Given the description of an element on the screen output the (x, y) to click on. 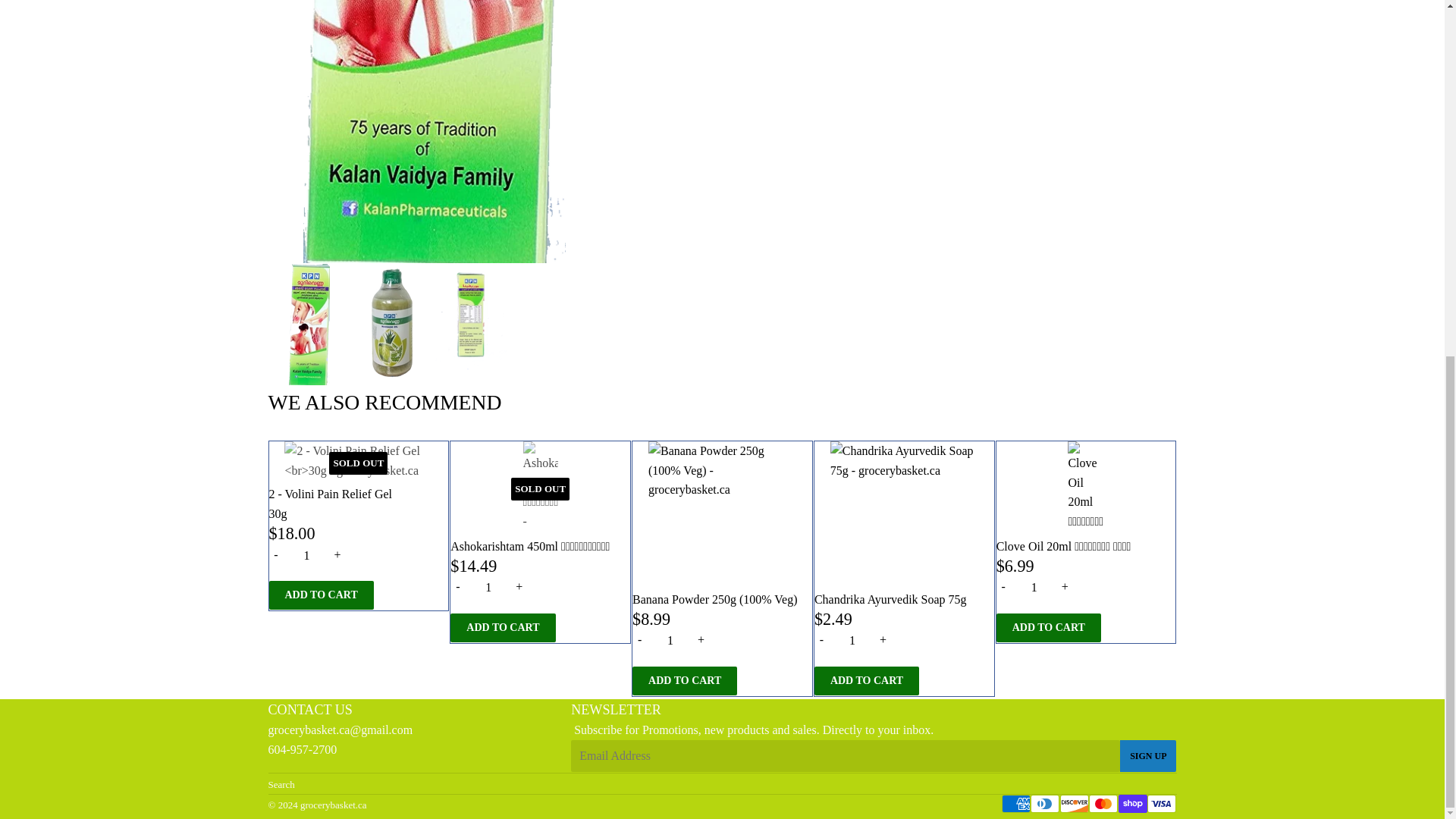
Visa (1161, 803)
1 (487, 587)
Diners Club (1044, 803)
1 (305, 555)
Add to cart (865, 680)
American Express (1015, 803)
1 (1033, 587)
Add to cart (1047, 627)
Mastercard (1103, 803)
Add to cart (501, 627)
